Given the description of an element on the screen output the (x, y) to click on. 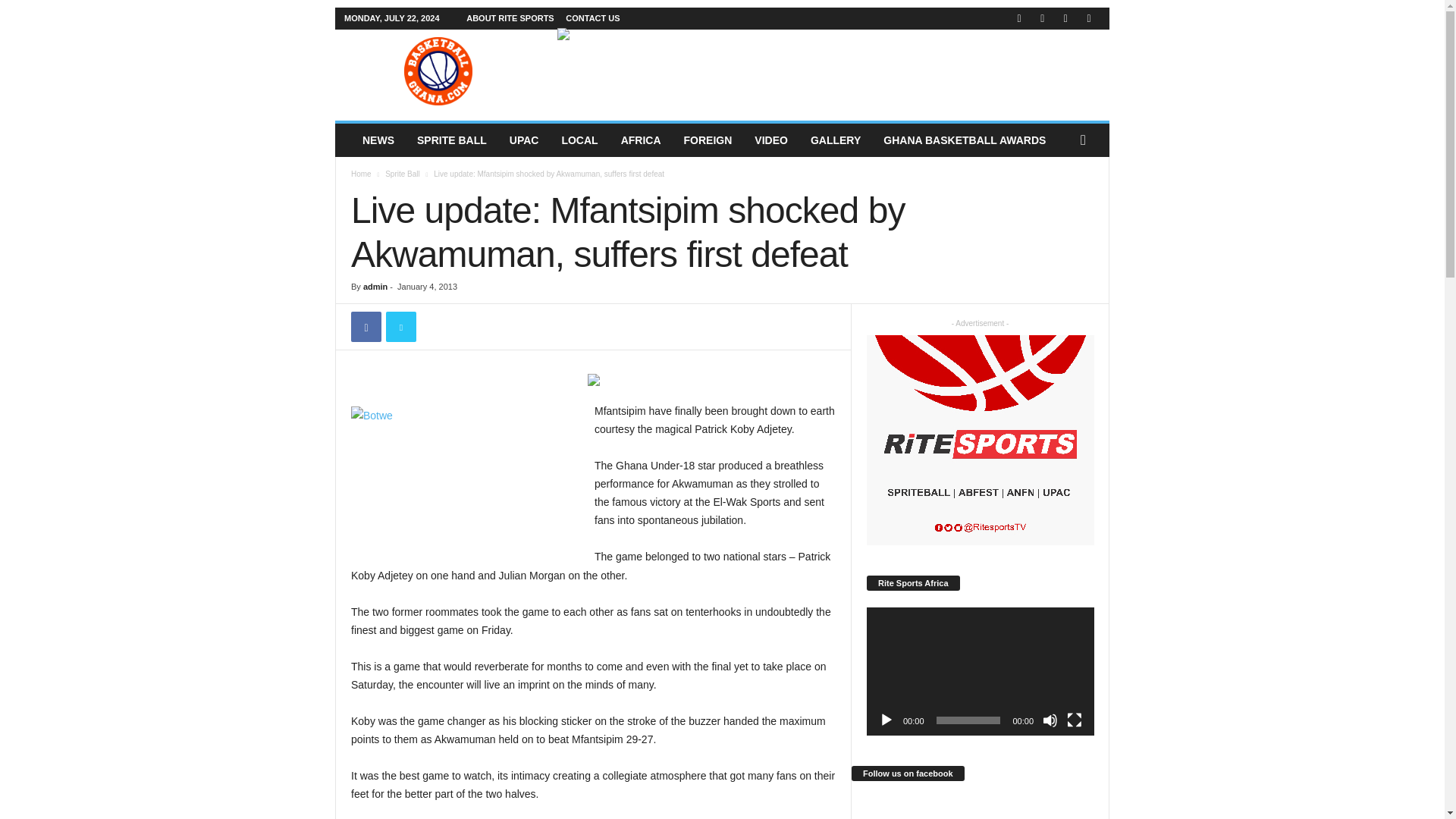
SPRITE BALL (451, 140)
View all posts in Sprite Ball (402, 173)
VIDEO (770, 140)
CONTACT US (593, 17)
Youtube (1088, 18)
AFRICA (641, 140)
NEWS (378, 140)
Facebook (1018, 18)
FOREIGN (708, 140)
Basket Ball Ghana (437, 70)
ABOUT RITE SPORTS (509, 17)
Instagram (1042, 18)
UPAC (523, 140)
LOCAL (579, 140)
Twitter (1065, 18)
